Given the description of an element on the screen output the (x, y) to click on. 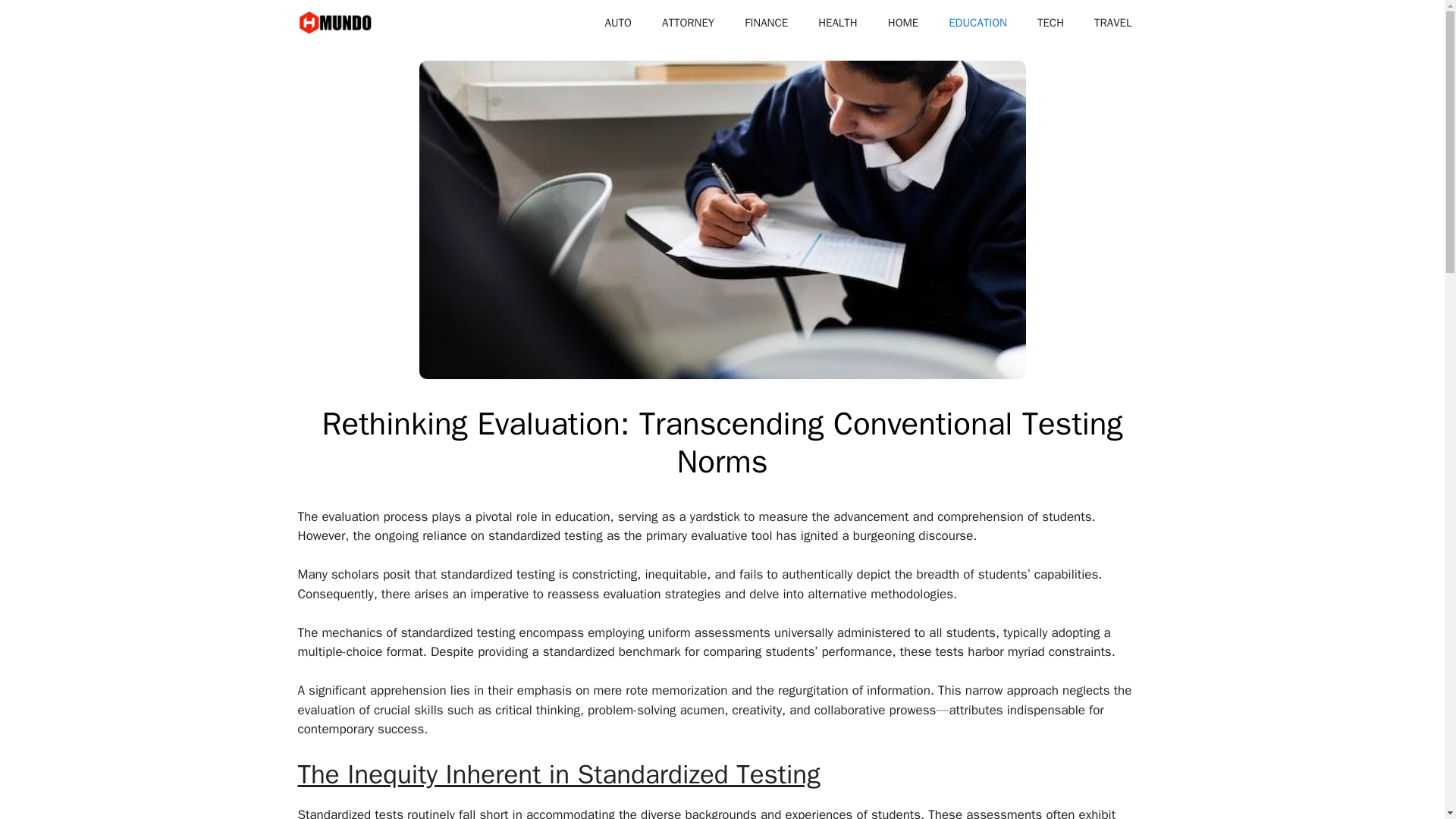
HEALTH (837, 22)
AUTO (617, 22)
ATTORNEY (687, 22)
Hogar y Mundo (335, 22)
TECH (1050, 22)
EDUCATION (977, 22)
FINANCE (766, 22)
TRAVEL (1112, 22)
HOME (902, 22)
